Given the description of an element on the screen output the (x, y) to click on. 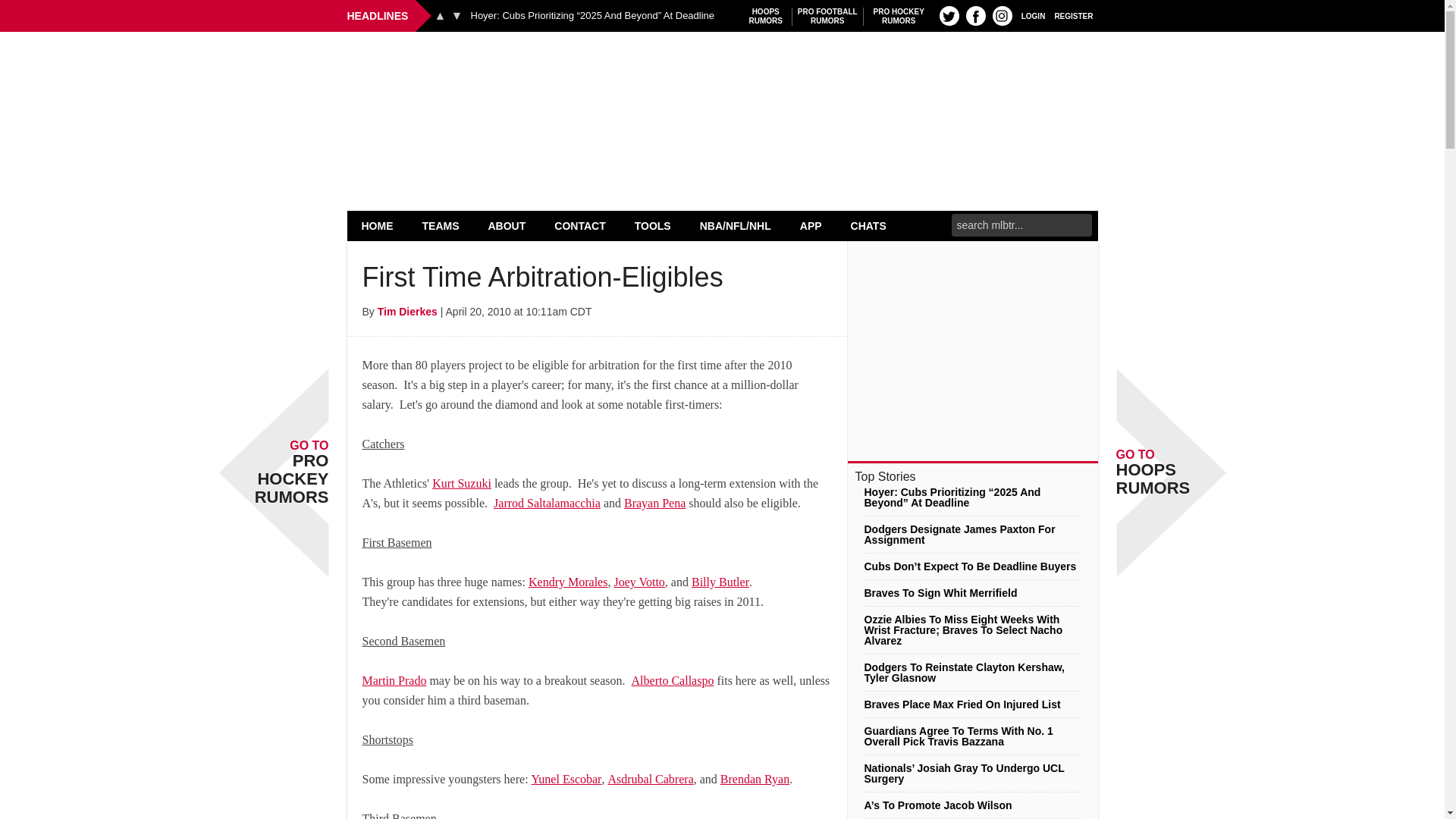
FB profile (975, 15)
MLB Trade Rumors (722, 69)
Twitter profile (949, 15)
Previous (439, 15)
LOGIN (898, 16)
REGISTER (1032, 15)
HOME (1073, 15)
TEAMS (377, 225)
Instagram profile (765, 16)
Next (440, 225)
